Given the description of an element on the screen output the (x, y) to click on. 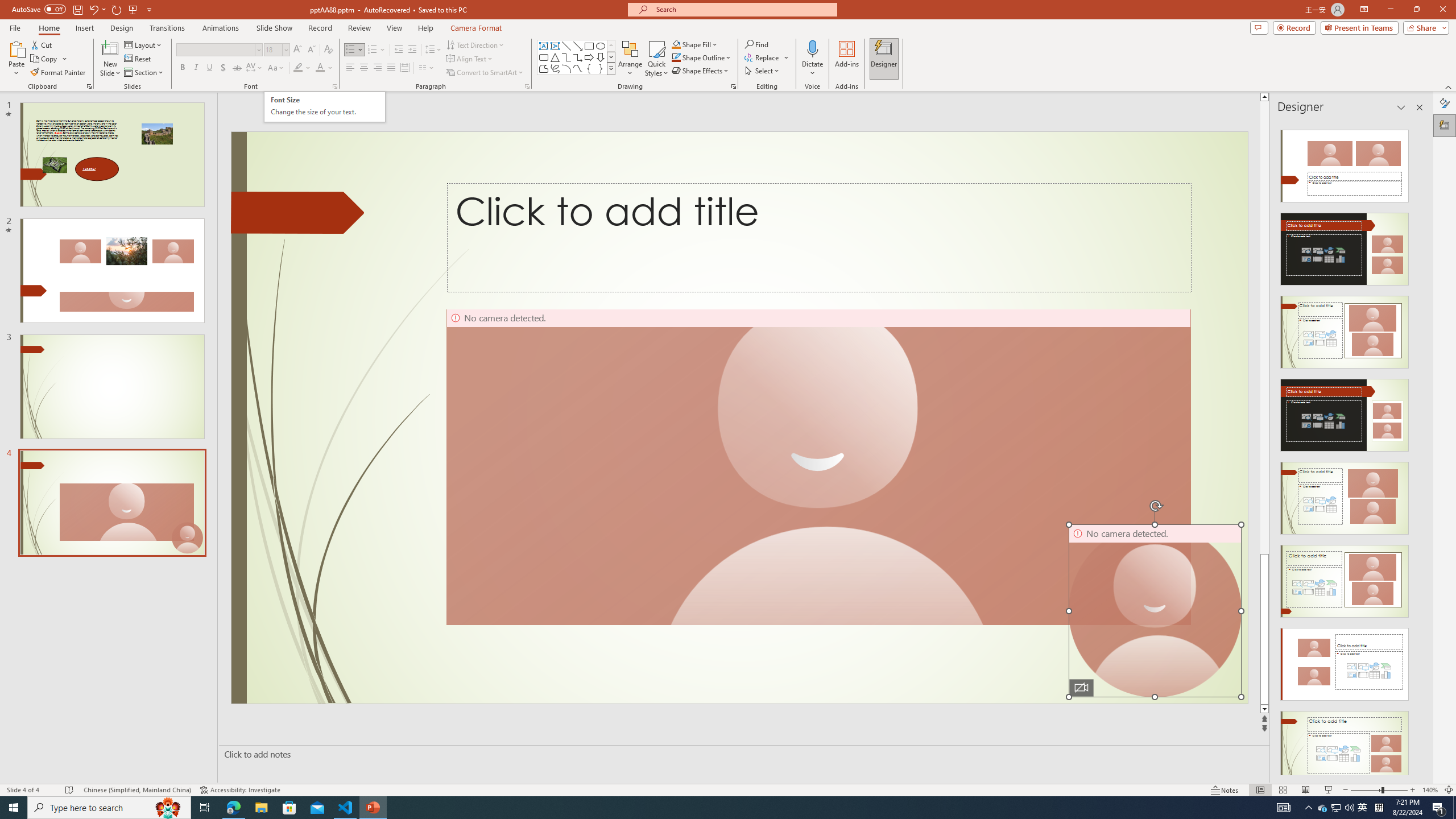
Camera Format (475, 28)
